Given the description of an element on the screen output the (x, y) to click on. 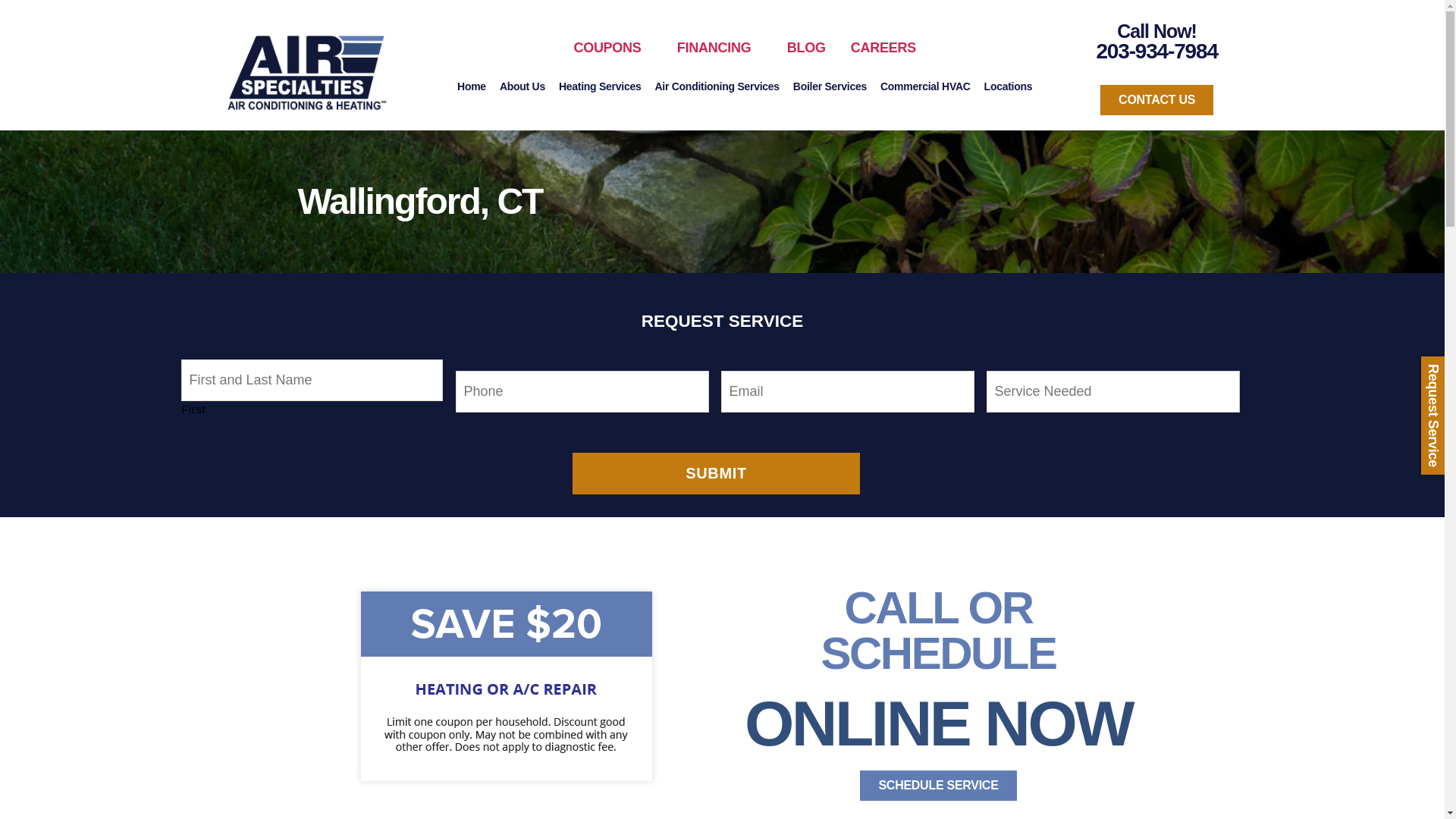
COUPONS (606, 47)
BLOG  (808, 47)
FINANCING (714, 47)
Air Conditioning Services (715, 86)
Submit (716, 473)
Boiler Services (829, 86)
Commercial HVAC (925, 86)
CAREERS (882, 47)
Heating Services (600, 86)
Locations (1008, 86)
